Given the description of an element on the screen output the (x, y) to click on. 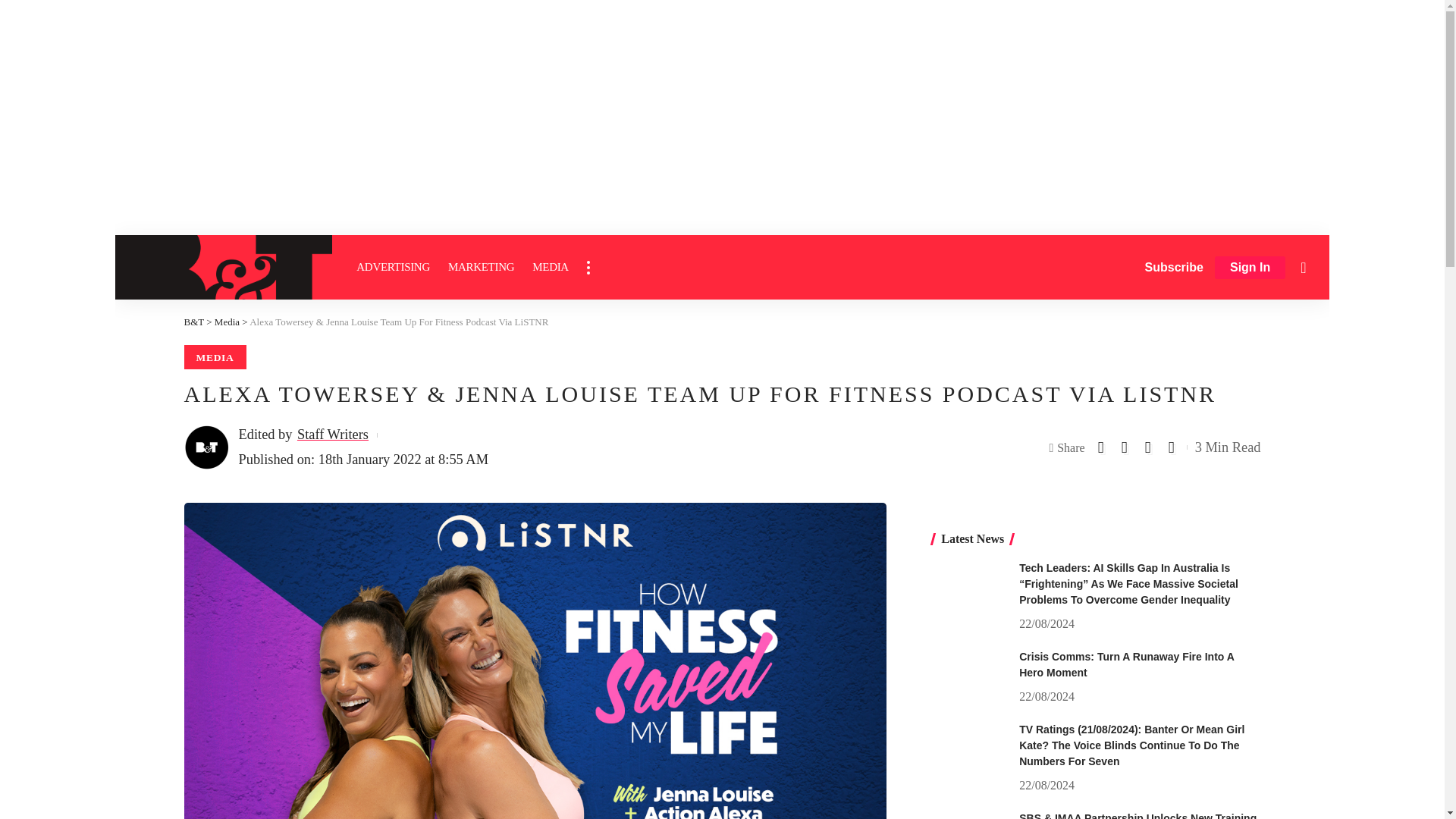
MARKETING (480, 267)
Subscribe (1174, 267)
Sign In (1249, 267)
Crisis Comms: Turn A Runaway Fire Into A Hero Moment (969, 677)
Go to the Media Category archives. (227, 321)
ADVERTISING (393, 267)
